Given the description of an element on the screen output the (x, y) to click on. 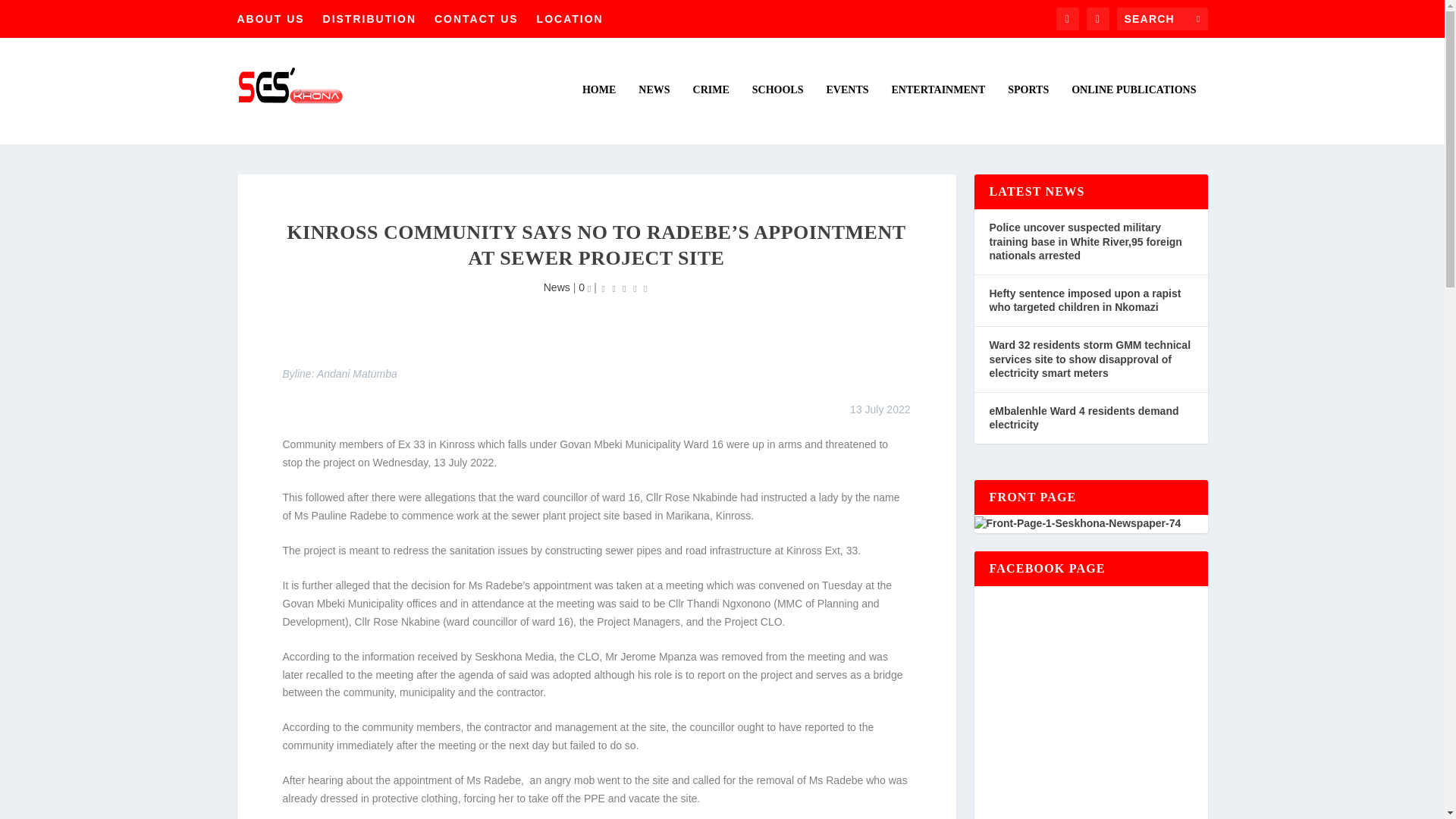
DISTRIBUTION (369, 18)
0 (584, 287)
ONLINE PUBLICATIONS (1133, 114)
News (556, 287)
ABOUT US (269, 18)
ENTERTAINMENT (938, 114)
LOCATION (570, 18)
Rating: 0.00 (624, 288)
CONTACT US (475, 18)
Search for: (1161, 18)
